Given the description of an element on the screen output the (x, y) to click on. 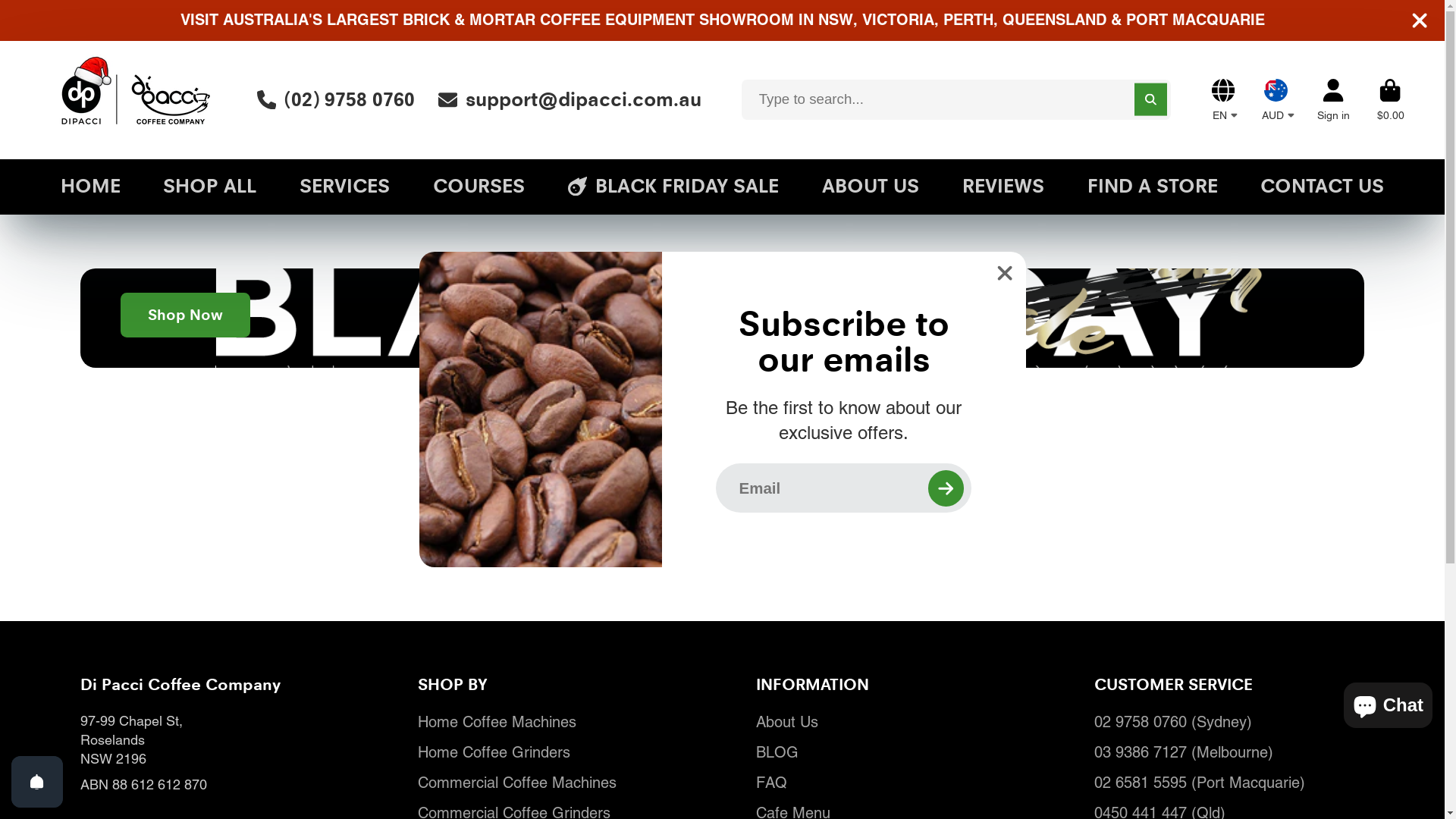
Shopify online store chat Element type: hover (1388, 702)
Account Element type: text (1333, 99)
Cart Element type: text (1390, 99)
ABOUT US Element type: text (870, 185)
FIND A STORE Element type: text (1152, 185)
FAQ Element type: text (891, 782)
Shop Now Element type: text (185, 314)
About Us Element type: text (891, 722)
REVIEWS Element type: text (1003, 185)
support@dipacci.com.au Element type: text (569, 99)
Continue shopping Element type: text (722, 542)
Home Coffee Machines Element type: text (552, 722)
Home Coffee Grinders Element type: text (552, 752)
Logo Element type: text (134, 99)
CONTACT US Element type: text (1321, 185)
03 9386 7127 (Melbourne) Element type: text (1229, 752)
02 9758 0760 (Sydney) Element type: text (1229, 722)
BLOG Element type: text (891, 752)
02 6581 5595 (Port Macquarie) Element type: text (1229, 782)
Commercial Coffee Machines Element type: text (552, 782)
HOME Element type: text (90, 185)
BLACK FRIDAY SALE Element type: text (672, 185)
(02) 9758 0760 Element type: text (335, 99)
